Given the description of an element on the screen output the (x, y) to click on. 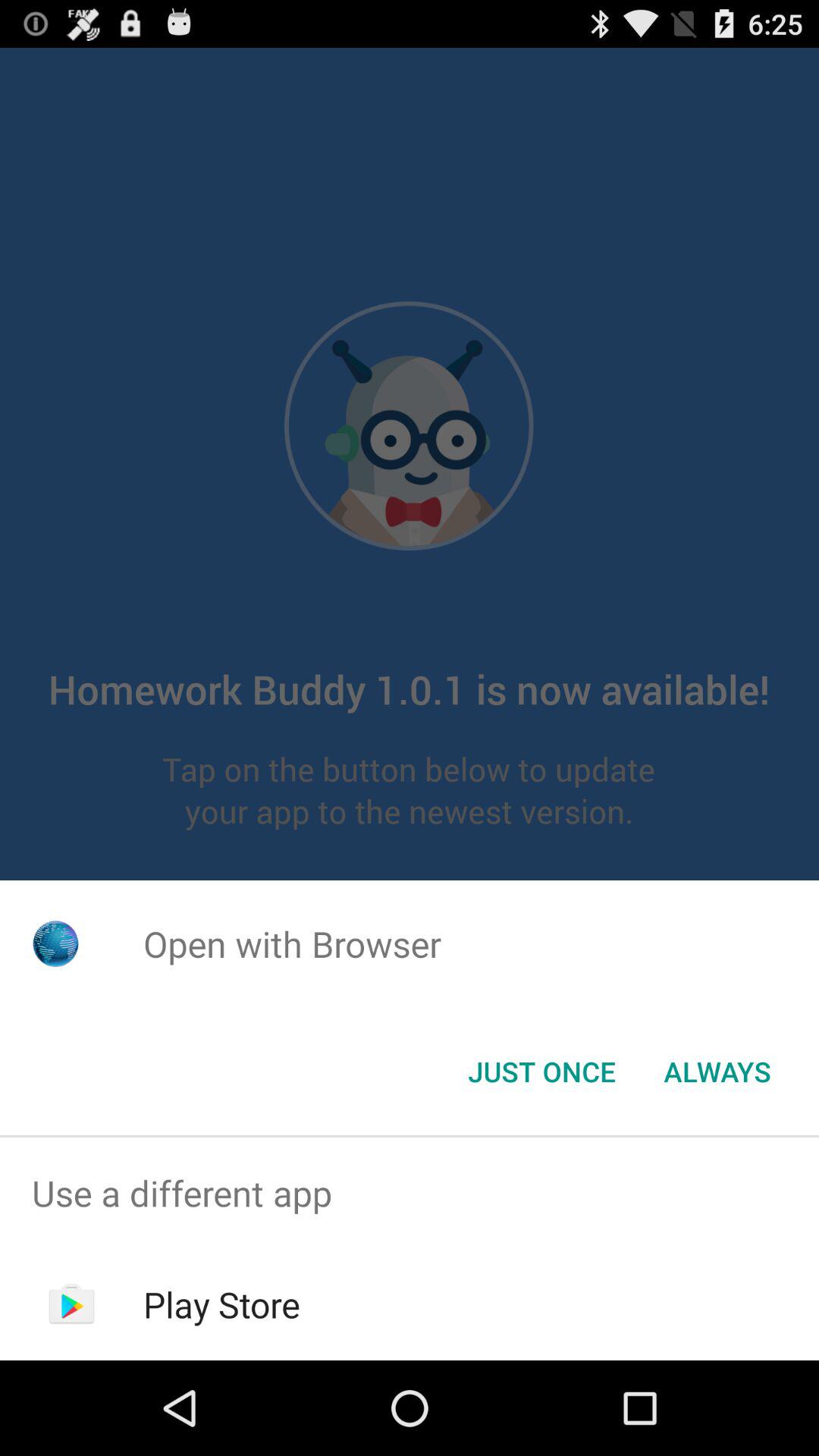
press the item next to the always item (541, 1071)
